Given the description of an element on the screen output the (x, y) to click on. 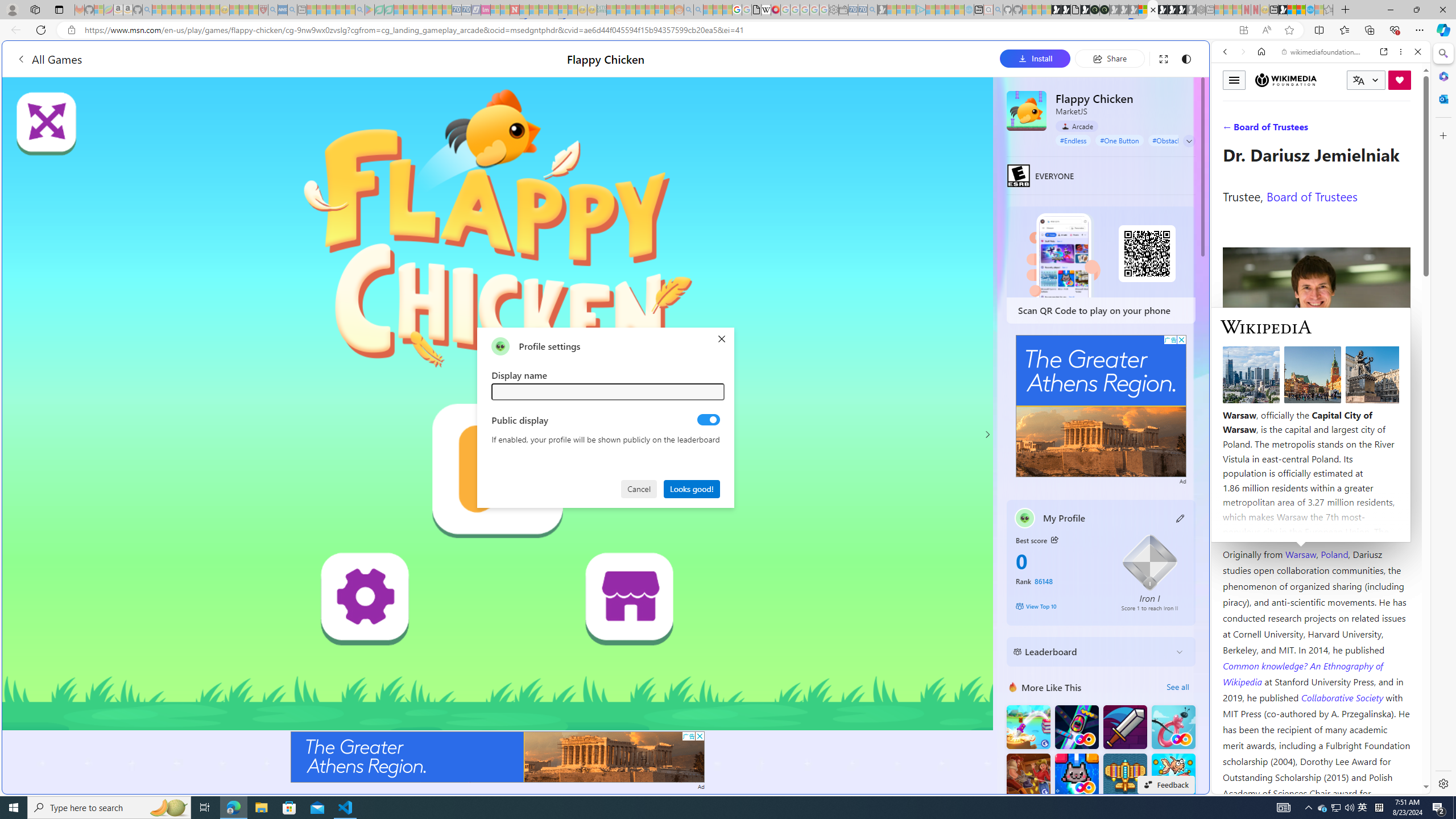
World - MSN (727, 389)
See all (1177, 687)
Latest Politics News & Archive | Newsweek.com - Sleeping (514, 9)
""'s avatar (500, 345)
Advertisement (1101, 405)
Share (1109, 58)
Cancel (639, 488)
Pets - MSN - Sleeping (340, 9)
Flappy Chicken (1026, 110)
utah sues federal government - Search - Sleeping (291, 9)
